Given the description of an element on the screen output the (x, y) to click on. 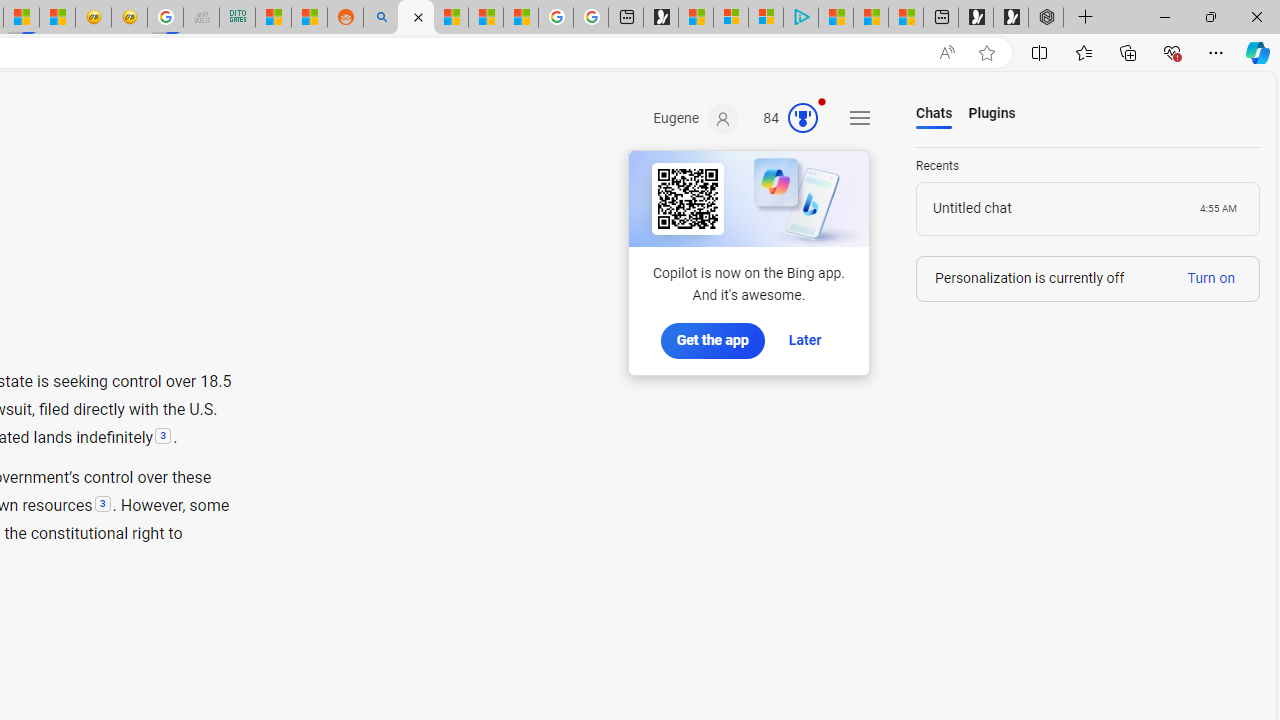
Get the app (712, 341)
Eugene (695, 119)
Plugins (991, 113)
